Given the description of an element on the screen output the (x, y) to click on. 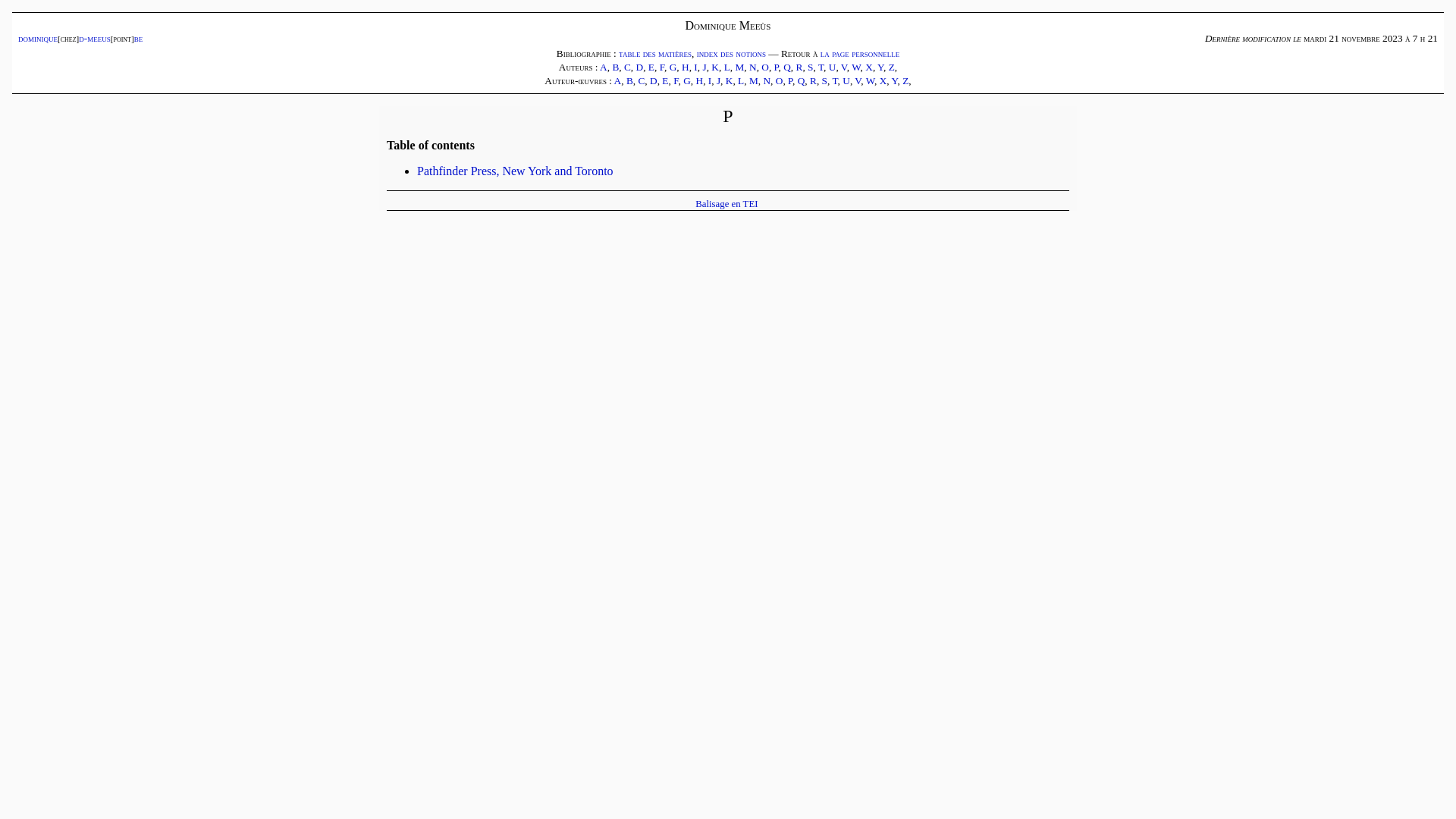
H Element type: text (698, 80)
C Element type: text (640, 80)
T Element type: text (820, 66)
I Element type: text (694, 66)
I Element type: text (709, 80)
L Element type: text (740, 80)
N Element type: text (766, 80)
Q Element type: text (786, 66)
K Element type: text (729, 80)
Z Element type: text (905, 80)
Y Element type: text (894, 80)
V Element type: text (857, 80)
S Element type: text (809, 66)
M Element type: text (738, 66)
X Element type: text (868, 66)
E Element type: text (651, 66)
G Element type: text (673, 66)
P Element type: text (789, 80)
index des notions Element type: text (730, 53)
M Element type: text (753, 80)
K Element type: text (714, 66)
A Element type: text (617, 80)
C Element type: text (627, 66)
J Element type: text (704, 66)
P Element type: text (776, 66)
L Element type: text (727, 66)
B Element type: text (614, 66)
F Element type: text (661, 66)
X Element type: text (883, 80)
R Element type: text (812, 80)
N Element type: text (752, 66)
D Element type: text (639, 66)
D Element type: text (653, 80)
J Element type: text (718, 80)
E Element type: text (665, 80)
W Element type: text (855, 66)
W Element type: text (870, 80)
V Element type: text (843, 66)
Y Element type: text (880, 66)
F Element type: text (675, 80)
S Element type: text (824, 80)
Q Element type: text (801, 80)
Z Element type: text (891, 66)
dominique[chez]d-meeus[point]be Element type: text (80, 37)
O Element type: text (764, 66)
A Element type: text (603, 66)
Pathfinder Press, New York and Toronto Element type: text (515, 170)
O Element type: text (779, 80)
U Element type: text (846, 80)
T Element type: text (834, 80)
B Element type: text (629, 80)
Balisage en TEI Element type: text (726, 203)
la page personnelle Element type: text (859, 53)
H Element type: text (685, 66)
U Element type: text (832, 66)
G Element type: text (686, 80)
R Element type: text (799, 66)
